Given the description of an element on the screen output the (x, y) to click on. 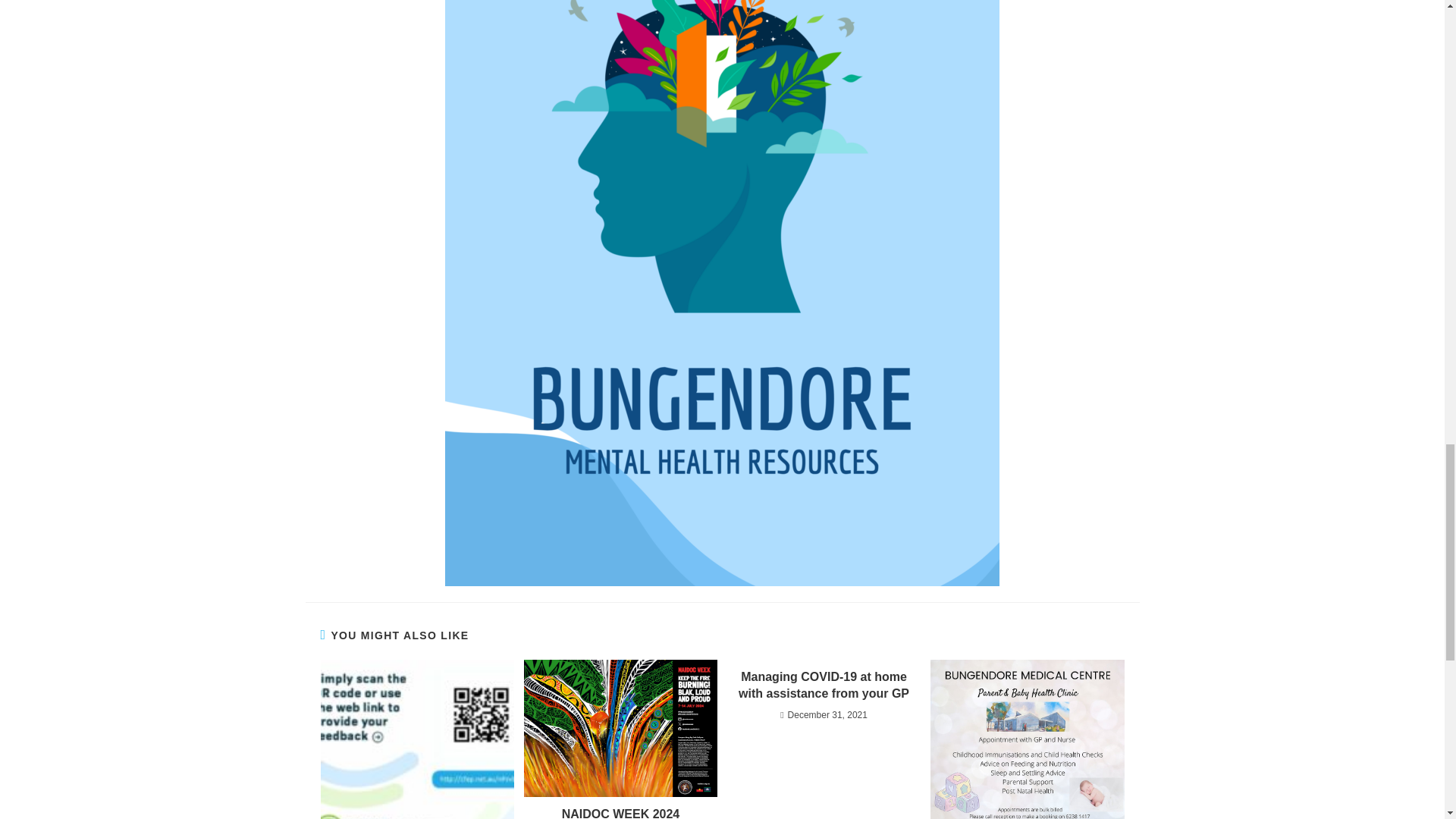
NAIDOC WEEK 2024 (620, 812)
Managing COVID-19 at home with assistance from your GP (824, 685)
